Given the description of an element on the screen output the (x, y) to click on. 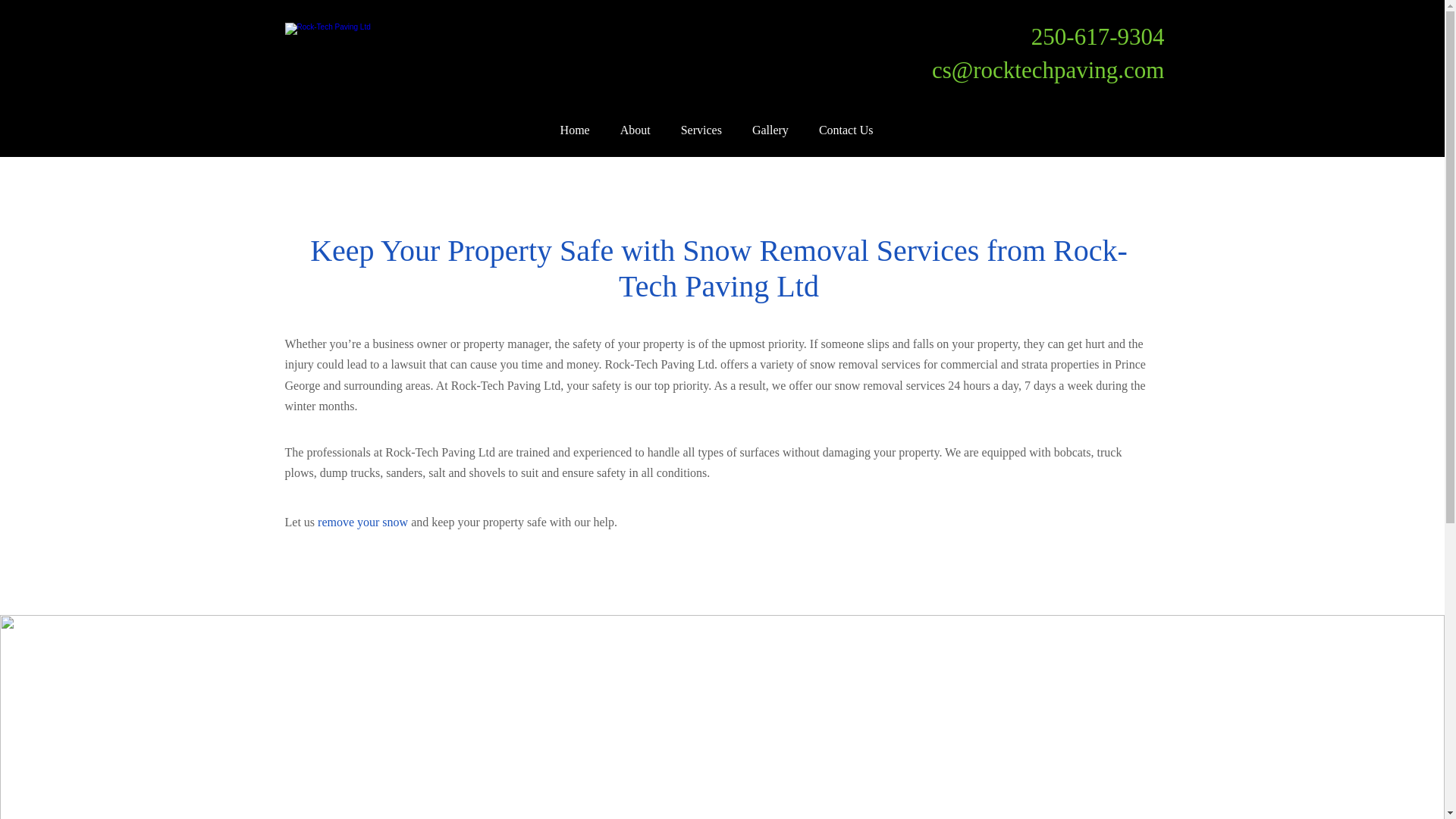
remove your snow (362, 521)
Home (574, 129)
Contact Us (845, 129)
Gallery (769, 129)
About (635, 129)
250-617-9304 (1097, 36)
